Given the description of an element on the screen output the (x, y) to click on. 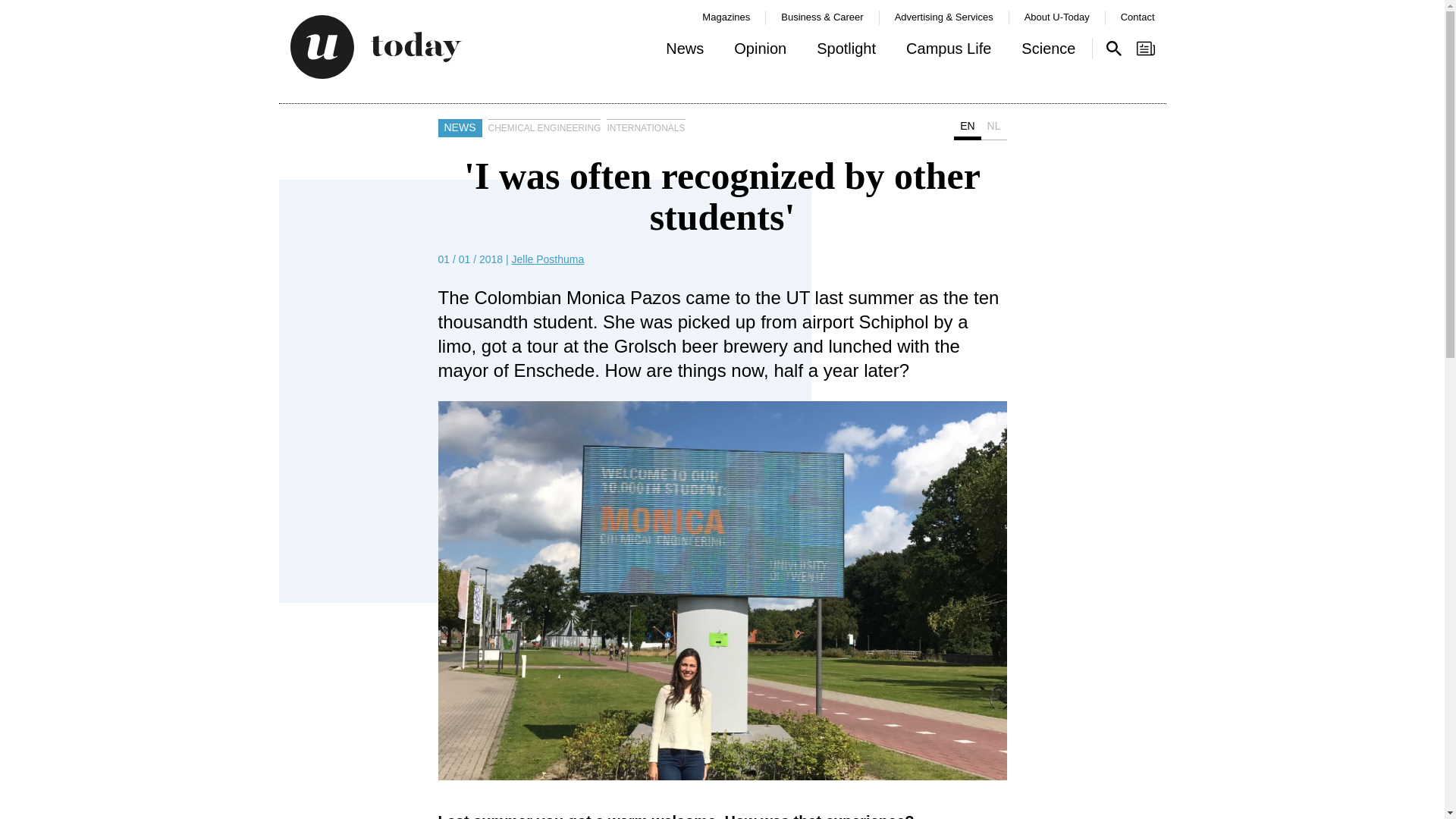
Search (1112, 48)
CHEMICAL ENGINEERING (544, 127)
About U-Today (1057, 16)
Magazines (725, 16)
NL (994, 129)
NEWS (460, 127)
Opinion (760, 51)
Jelle Posthuma (548, 259)
Contact (1137, 16)
Science (1048, 51)
